Given the description of an element on the screen output the (x, y) to click on. 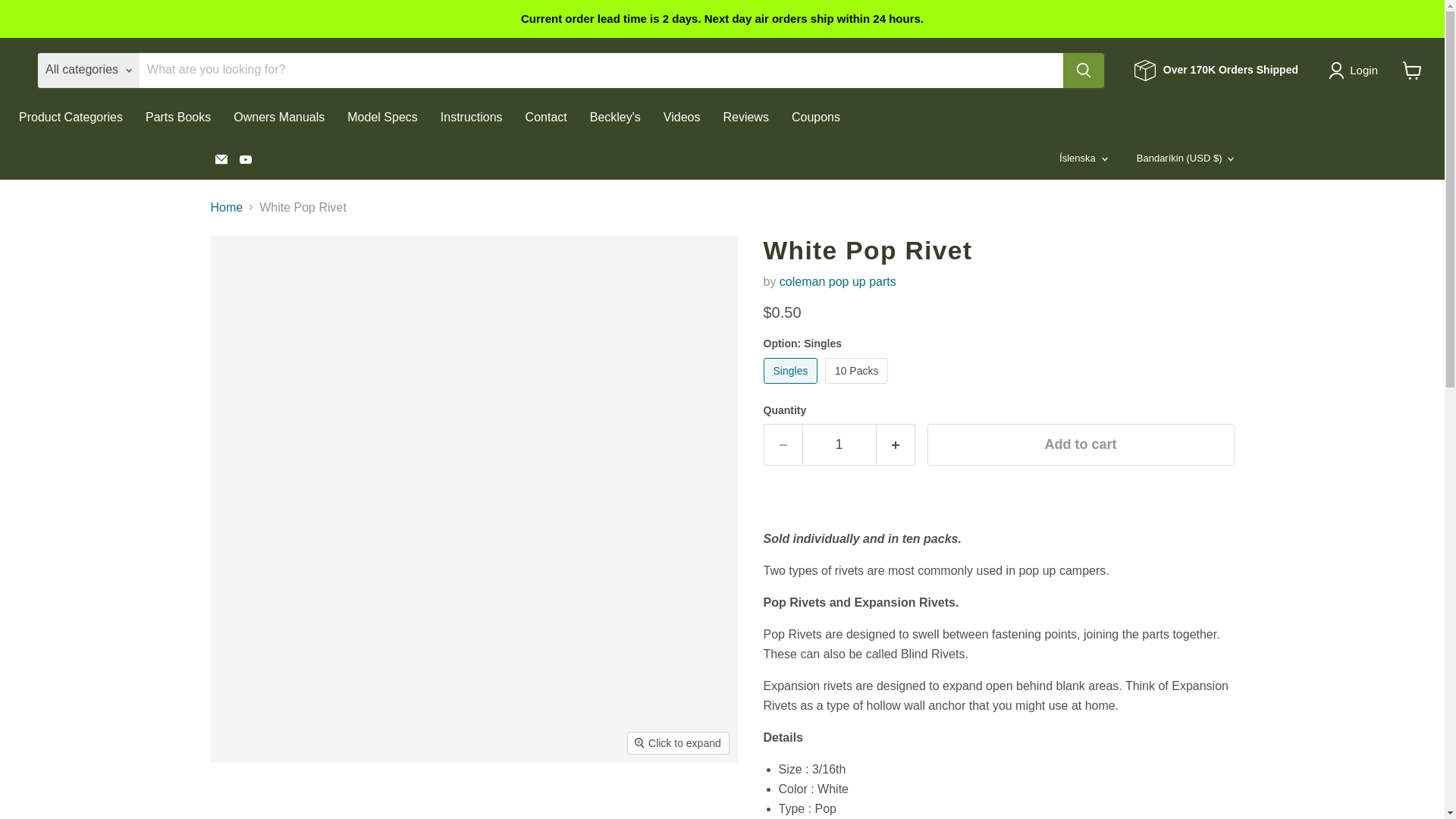
Model Specs (382, 117)
View cart (1411, 69)
Parts Books (177, 117)
Product Categories (70, 117)
Instructions (471, 117)
Email (221, 158)
Reviews (744, 117)
Videos (681, 117)
Login (1355, 70)
1 (839, 445)
YouTube (245, 158)
Contact (545, 117)
coleman pop up parts (837, 281)
Owners Manuals (279, 117)
Beckley's (615, 117)
